Given the description of an element on the screen output the (x, y) to click on. 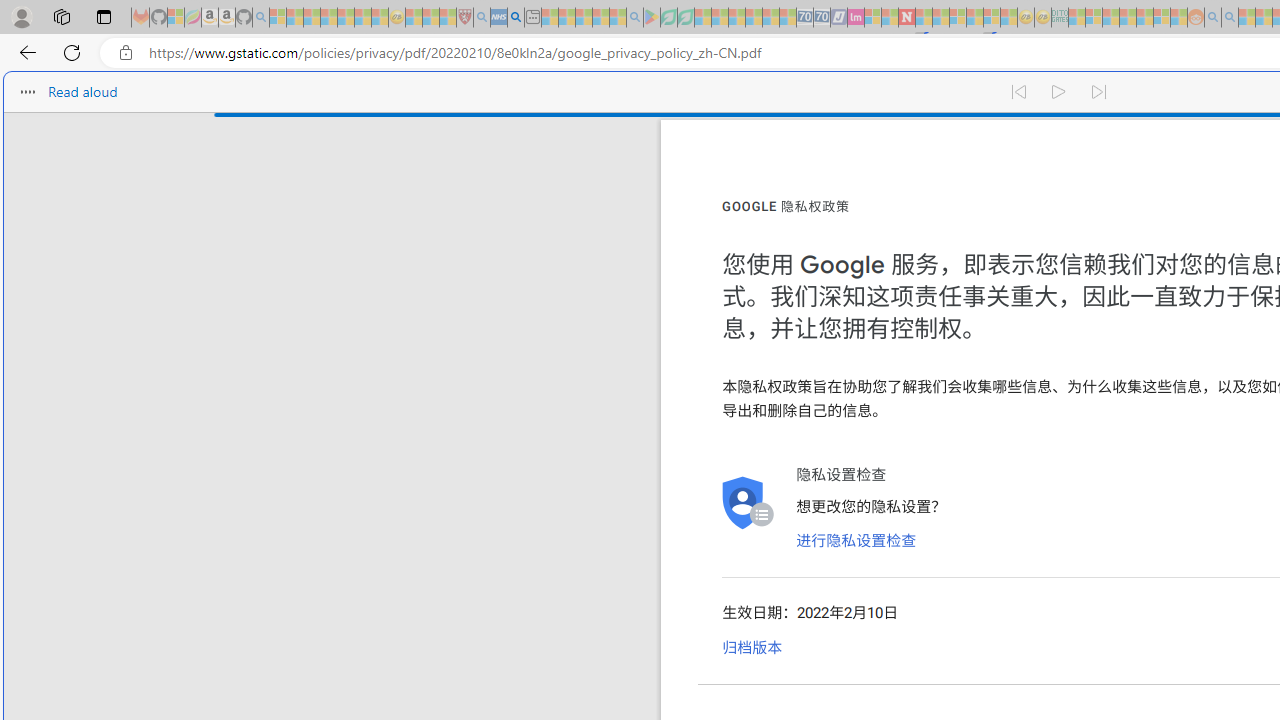
Continue to read aloud (Ctrl+Shift+U) (1059, 92)
Kinda Frugal - MSN - Sleeping (1144, 17)
Pets - MSN - Sleeping (600, 17)
Bluey: Let's Play! - Apps on Google Play - Sleeping (651, 17)
